Given the description of an element on the screen output the (x, y) to click on. 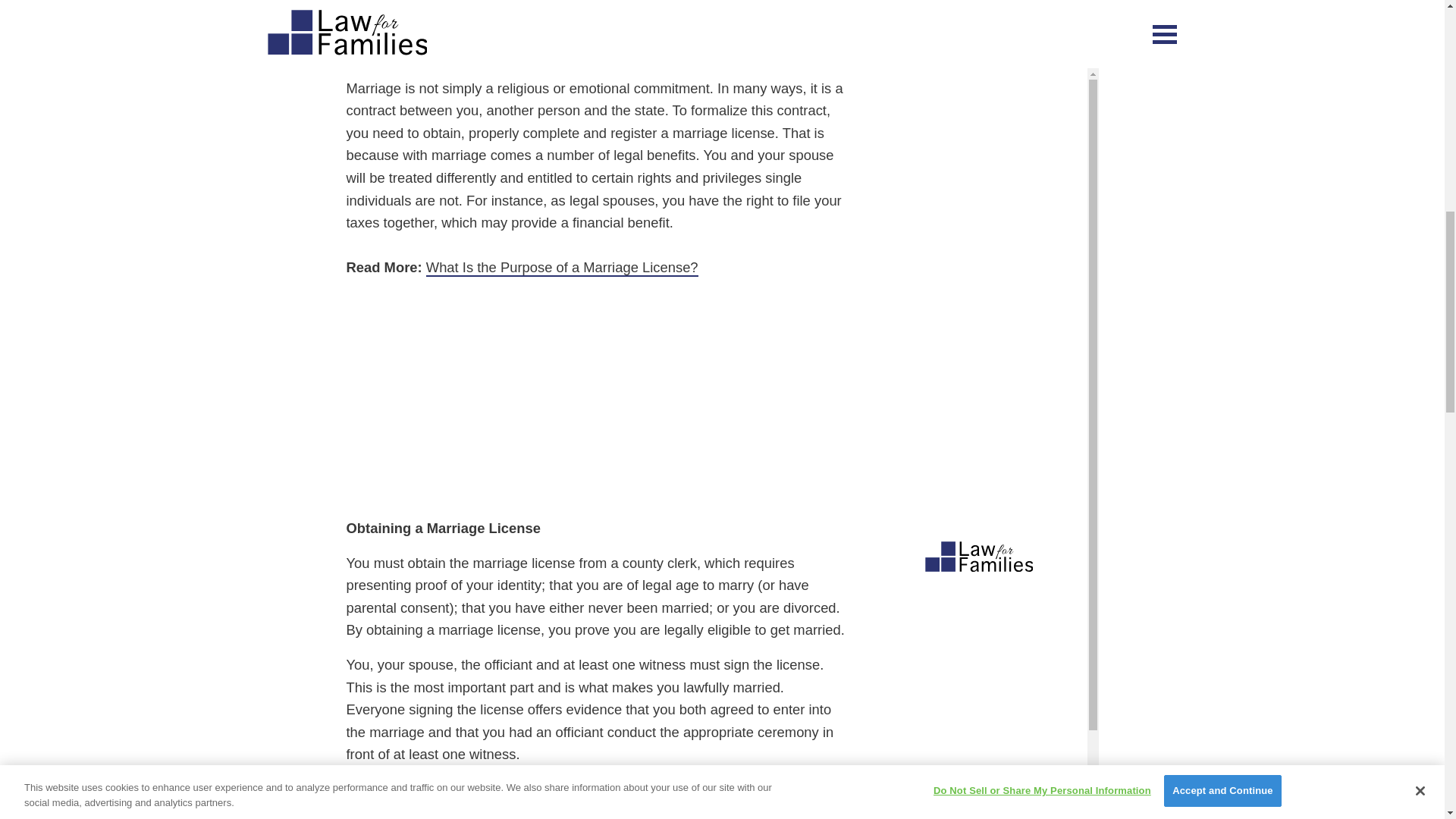
What Is the Purpose of a Marriage License? (562, 267)
Advertisement (595, 22)
3rd party ad content (595, 398)
